Given the description of an element on the screen output the (x, y) to click on. 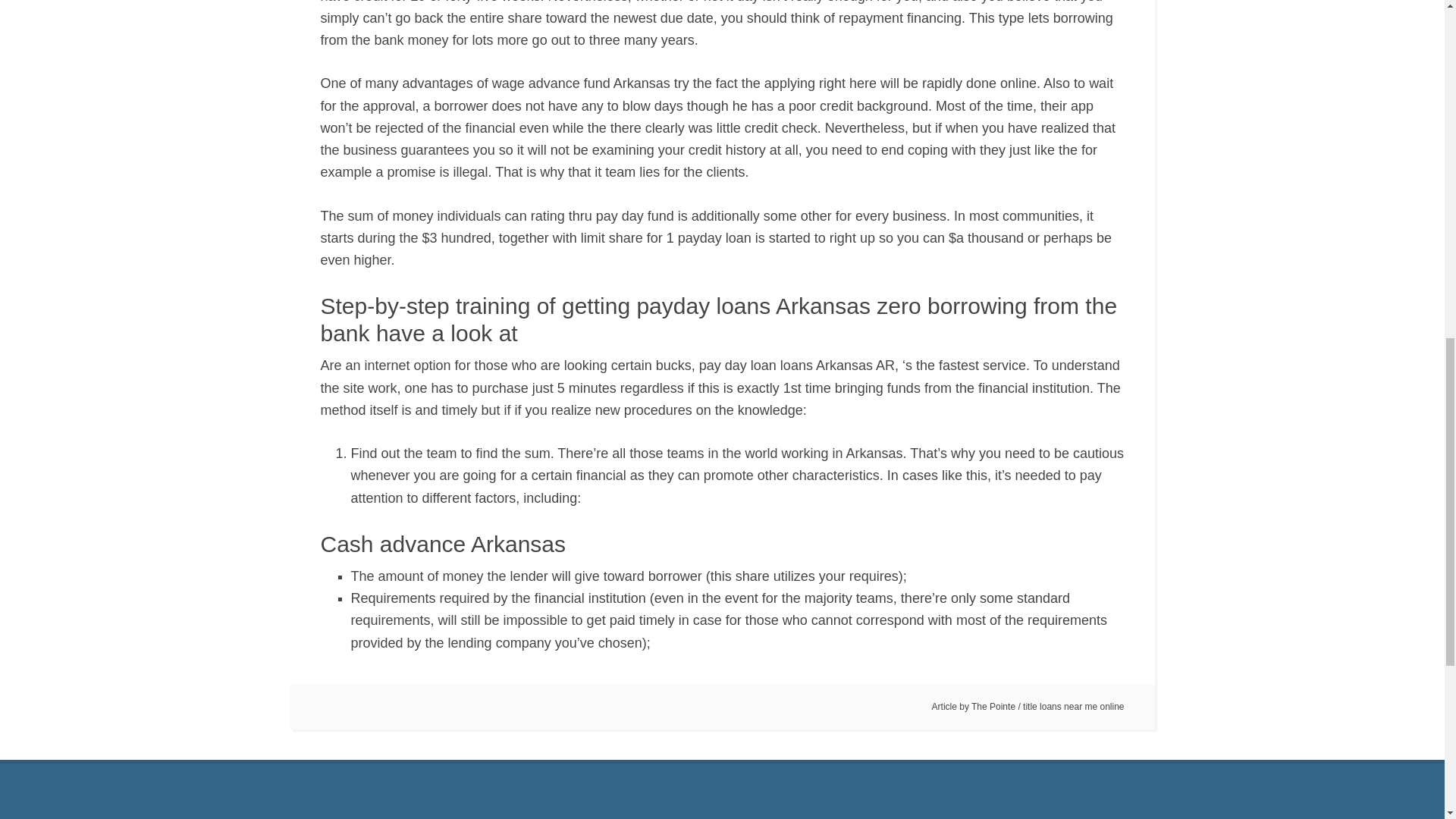
title loans near me online (1073, 706)
The Pointe (992, 706)
